Given the description of an element on the screen output the (x, y) to click on. 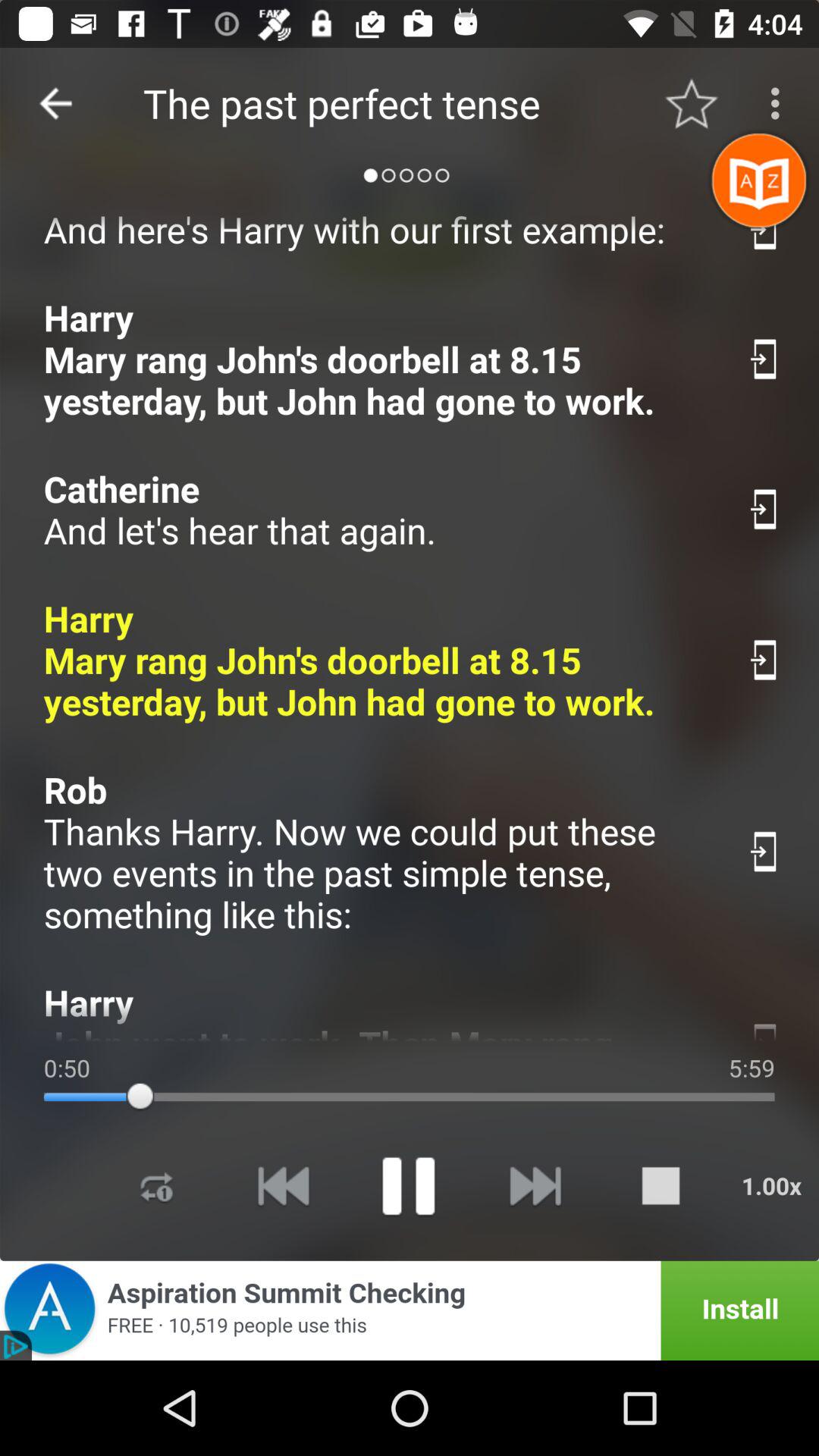
turn off icon below the harry mary rang (379, 851)
